Given the description of an element on the screen output the (x, y) to click on. 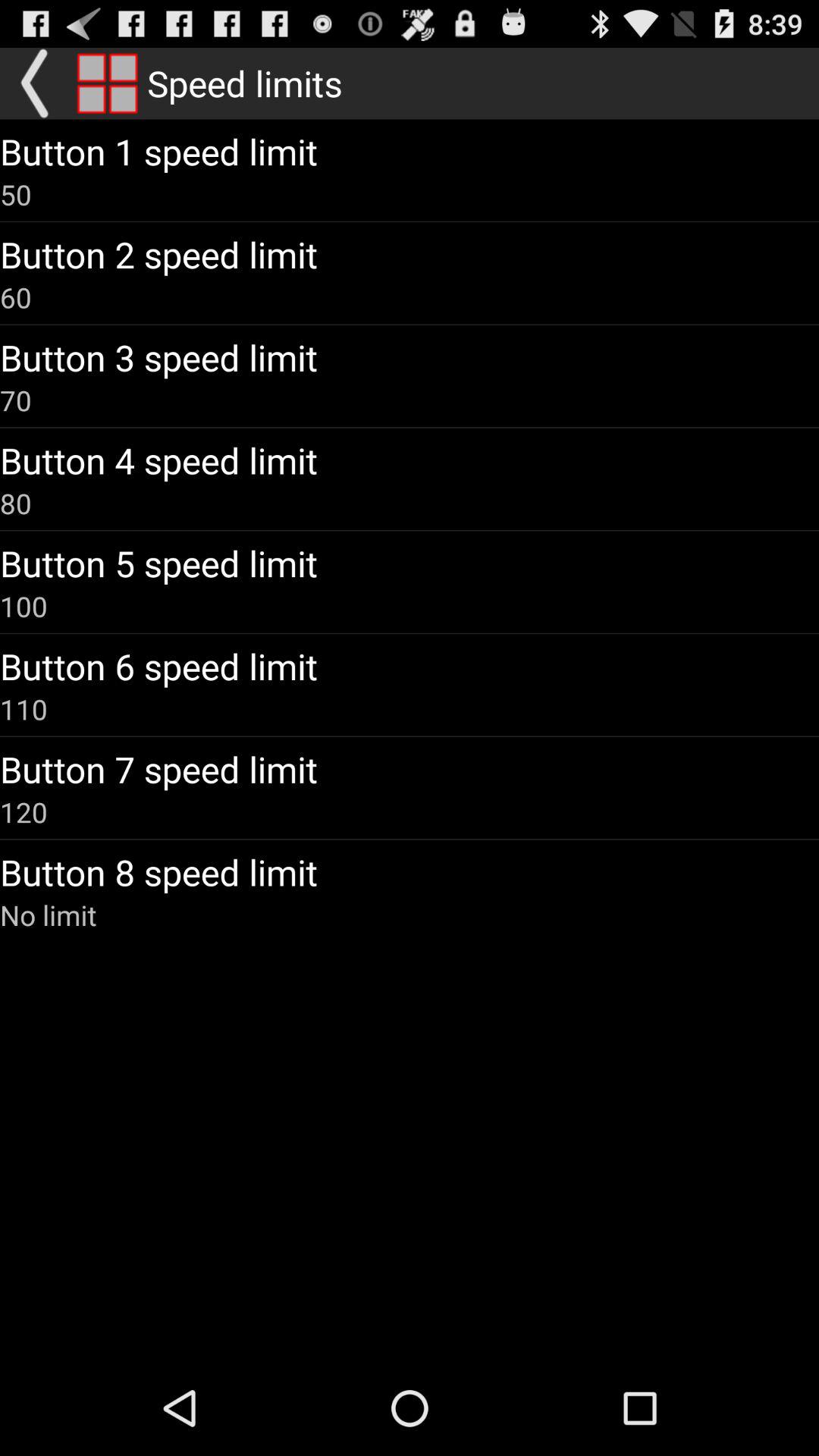
launch the item below button 7 speed item (23, 811)
